Given the description of an element on the screen output the (x, y) to click on. 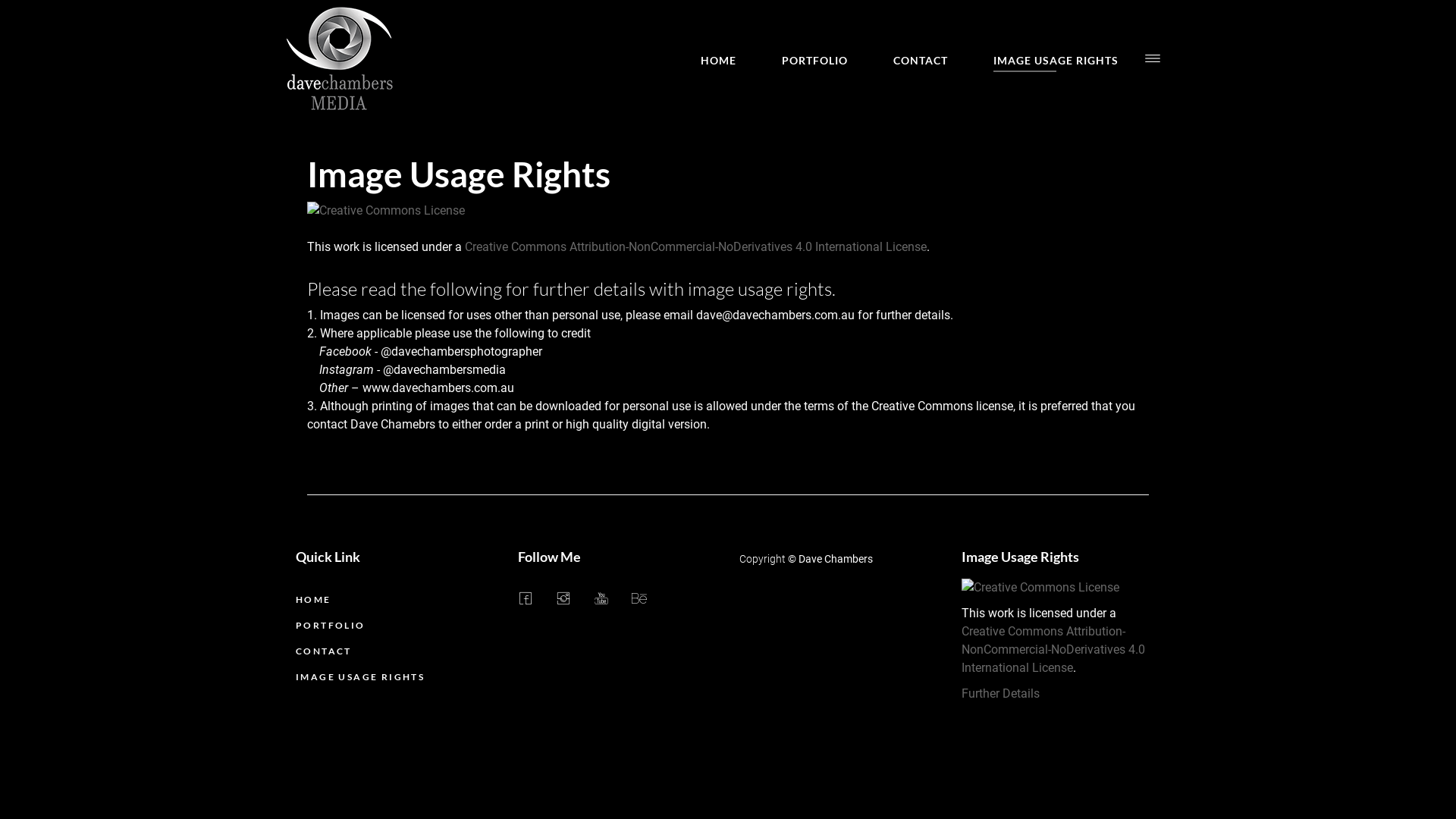
Further Details Element type: text (1000, 693)
CONTACT Element type: text (920, 60)
HOME Element type: text (313, 605)
IMAGE USAGE RIGHTS Element type: text (1055, 60)
HOME Element type: text (718, 60)
IMAGE USAGE RIGHTS Element type: text (359, 682)
PORTFOLIO Element type: text (330, 630)
CONTACT Element type: text (323, 656)
PORTFOLIO Element type: text (814, 60)
